Given the description of an element on the screen output the (x, y) to click on. 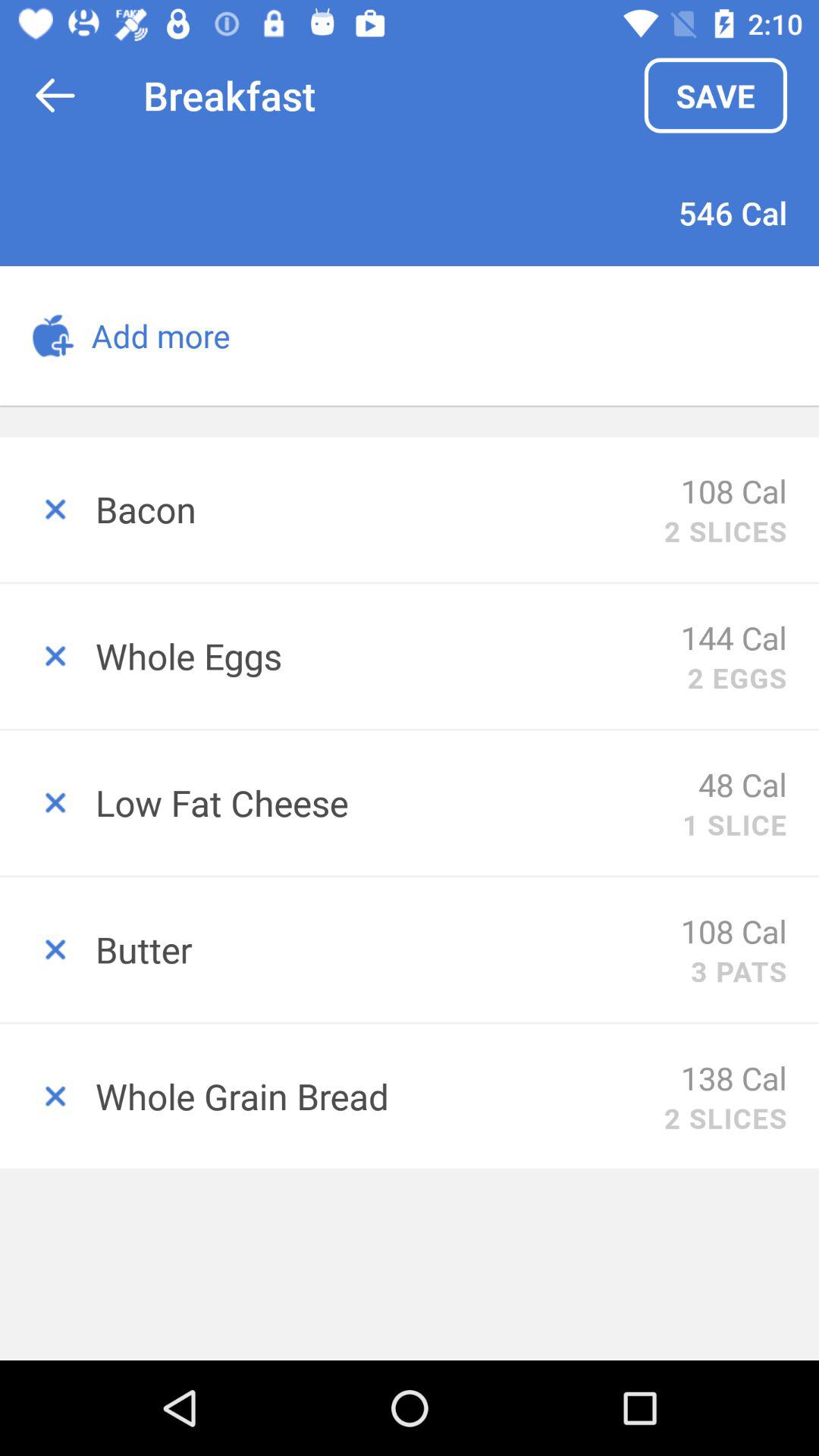
turn off the whole grain bread item (379, 1096)
